Given the description of an element on the screen output the (x, y) to click on. 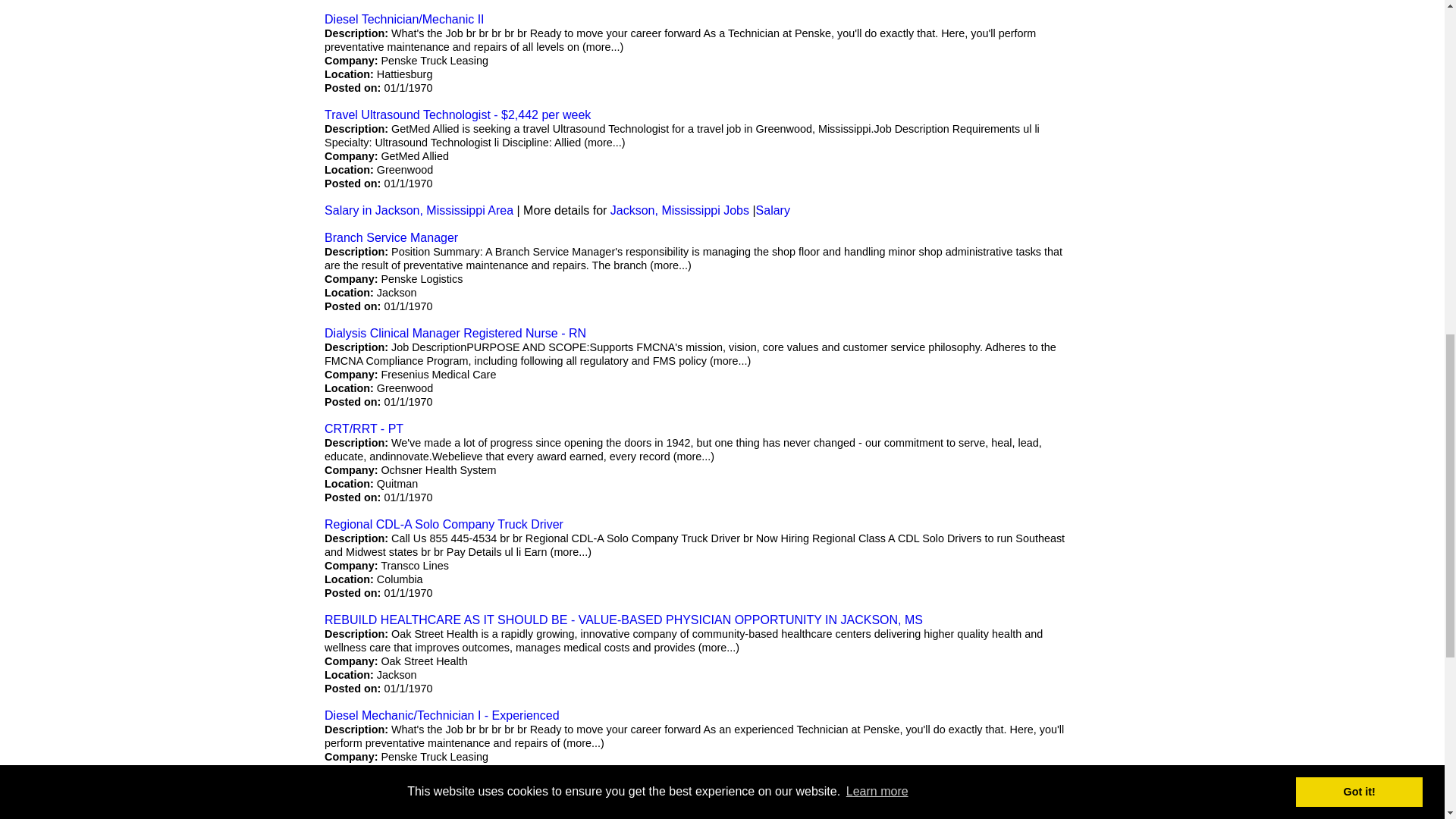
Branch Service Manager (391, 237)
Salary in Jackson, Mississippi Area (418, 210)
Jackson, Mississippi Jobs (679, 210)
Dialysis Clinical Manager Registered Nurse - RN (455, 332)
Regional CDL-A Solo Company Truck Driver (443, 523)
Regional CDL-A Solo Company Truck Driver (443, 810)
Salary (772, 210)
